Given the description of an element on the screen output the (x, y) to click on. 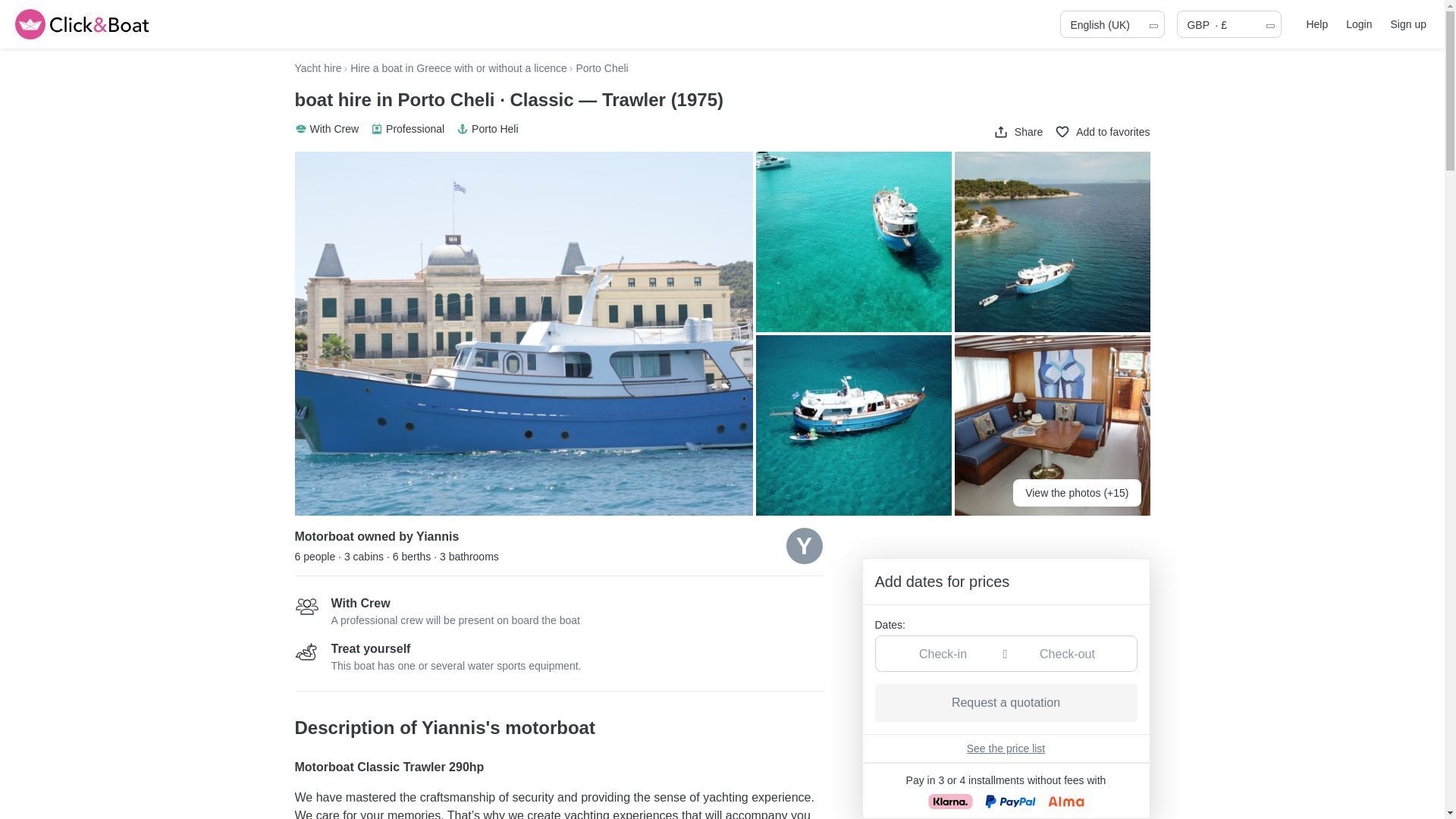
See the price list (1005, 748)
Login (1358, 23)
Porto Cheli (601, 68)
Request a quotation (1006, 702)
Help (1316, 23)
Sign up (1408, 23)
Hire a boat in Greece with or without a licence (458, 68)
Yacht hire (317, 68)
